Given the description of an element on the screen output the (x, y) to click on. 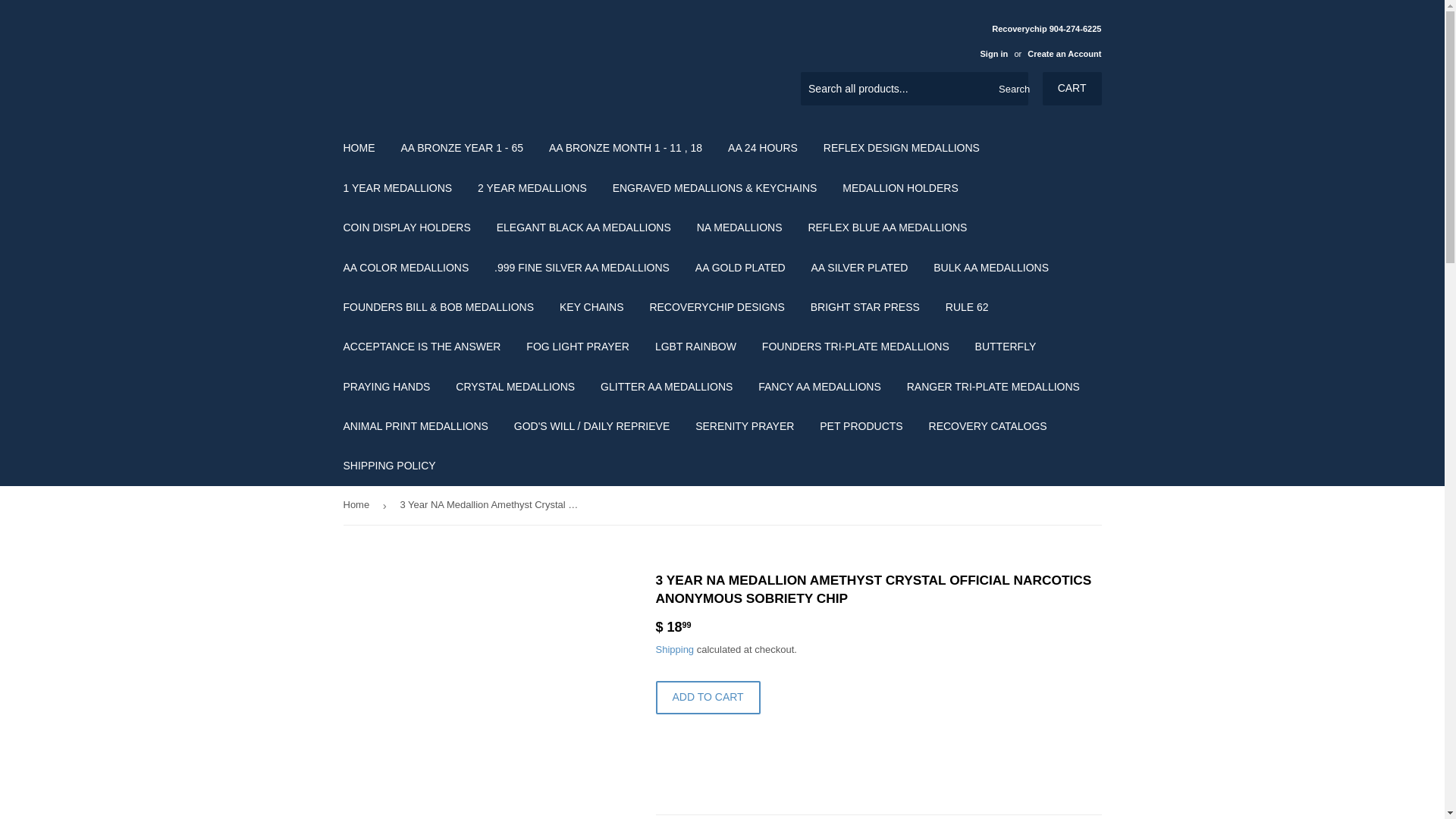
Search (1010, 89)
Create an Account (1063, 53)
Sign in (993, 53)
Recoverychip 904-274-6225 (1034, 40)
CART (1072, 88)
